Given the description of an element on the screen output the (x, y) to click on. 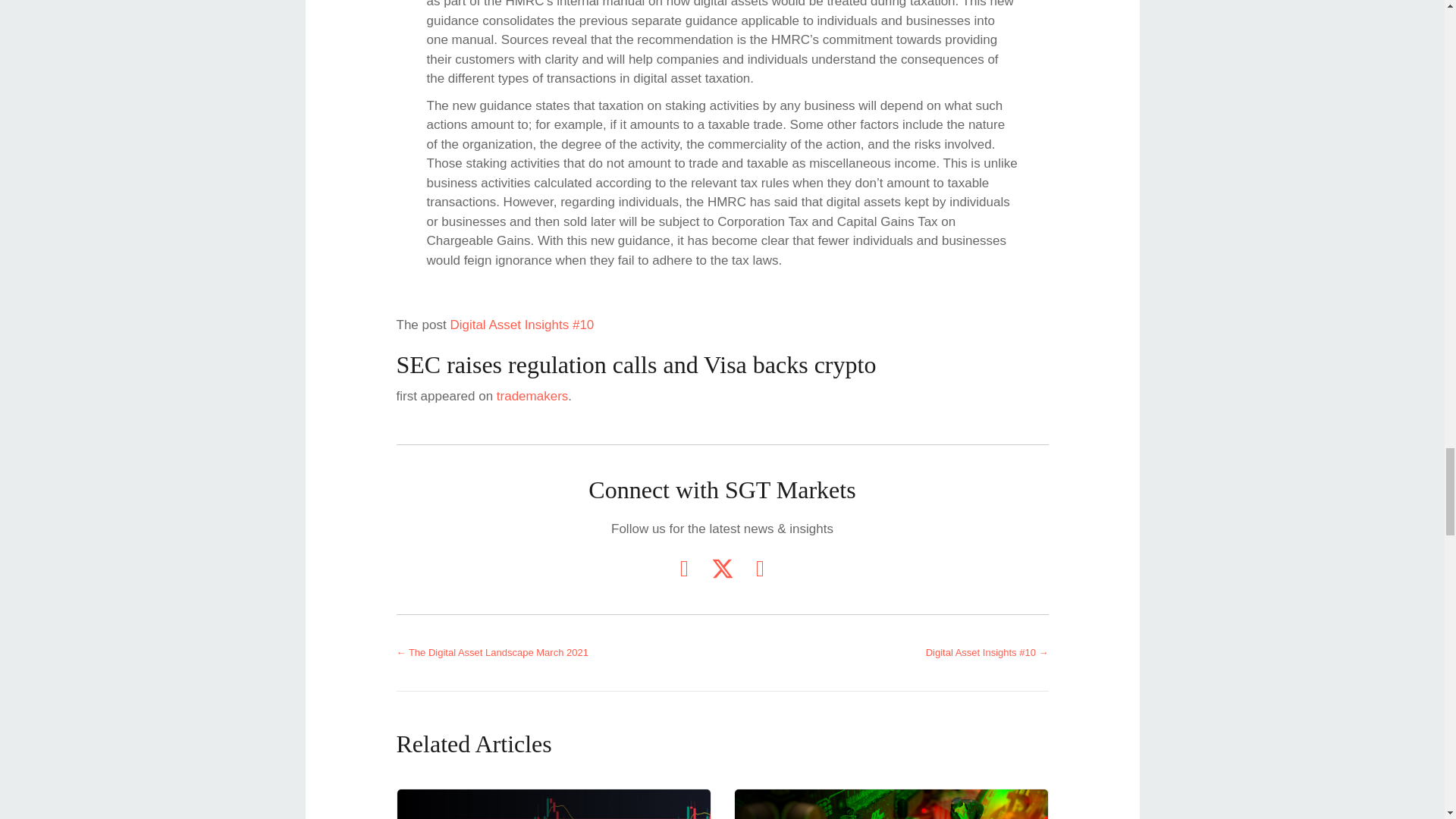
Bitcoin Miners Sell Off (889, 804)
Facebook (759, 568)
LinkedIn (683, 568)
